Given the description of an element on the screen output the (x, y) to click on. 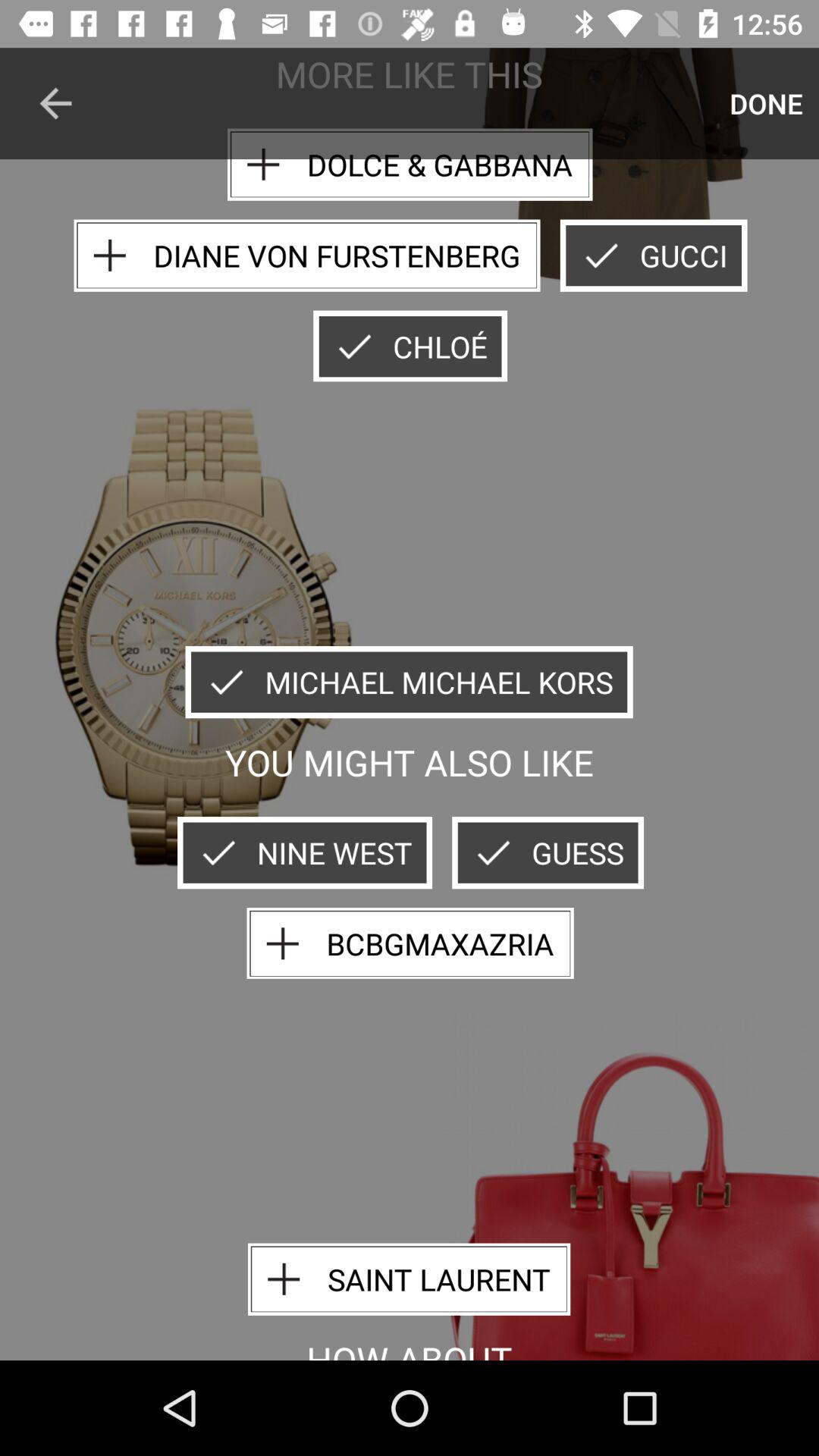
launch diane von furstenberg (306, 255)
